Given the description of an element on the screen output the (x, y) to click on. 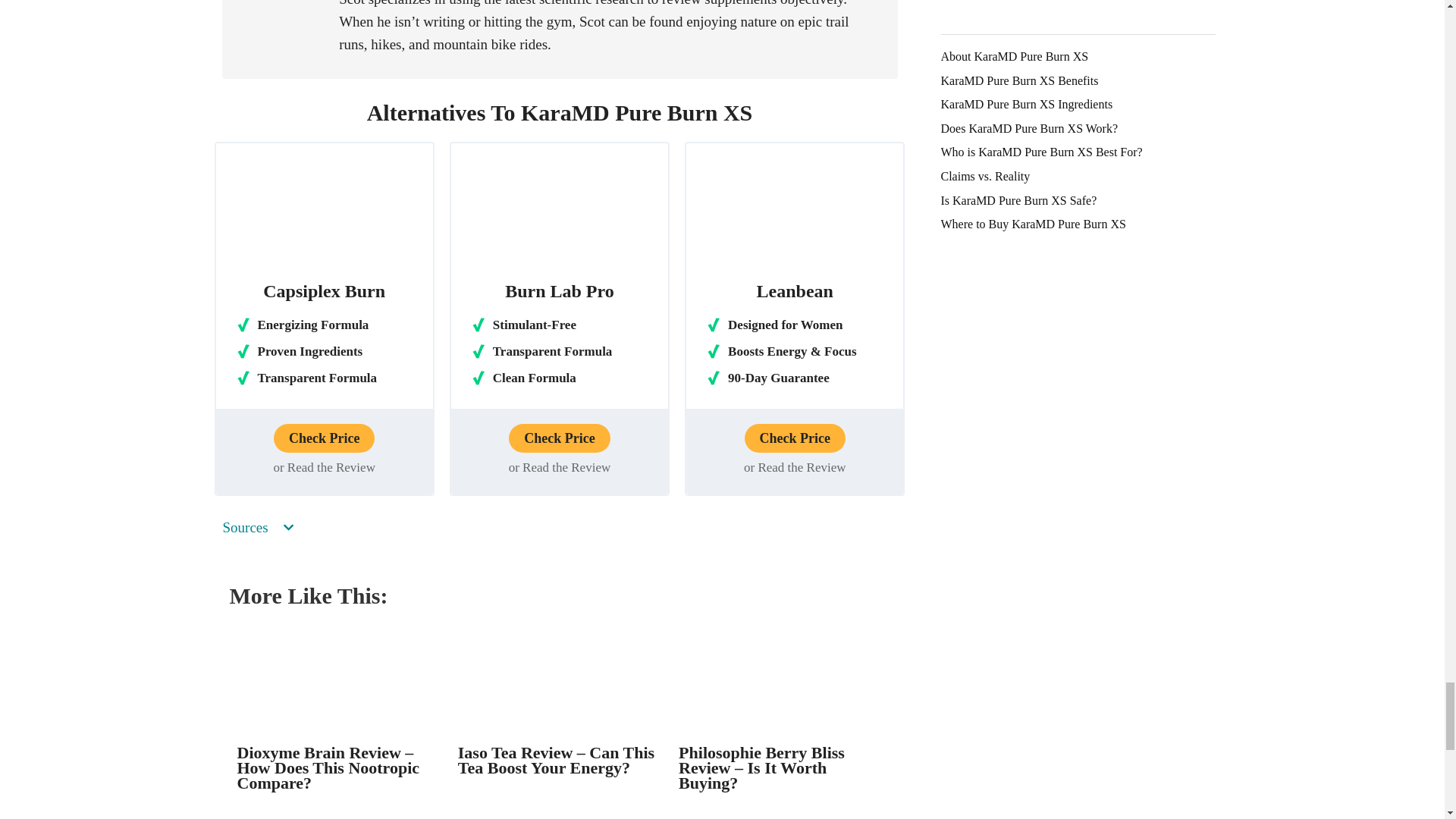
Burn Lab Pro by Opti-Nutra Ltd. (558, 214)
Leanbean (794, 214)
capsiplex (324, 214)
